Given the description of an element on the screen output the (x, y) to click on. 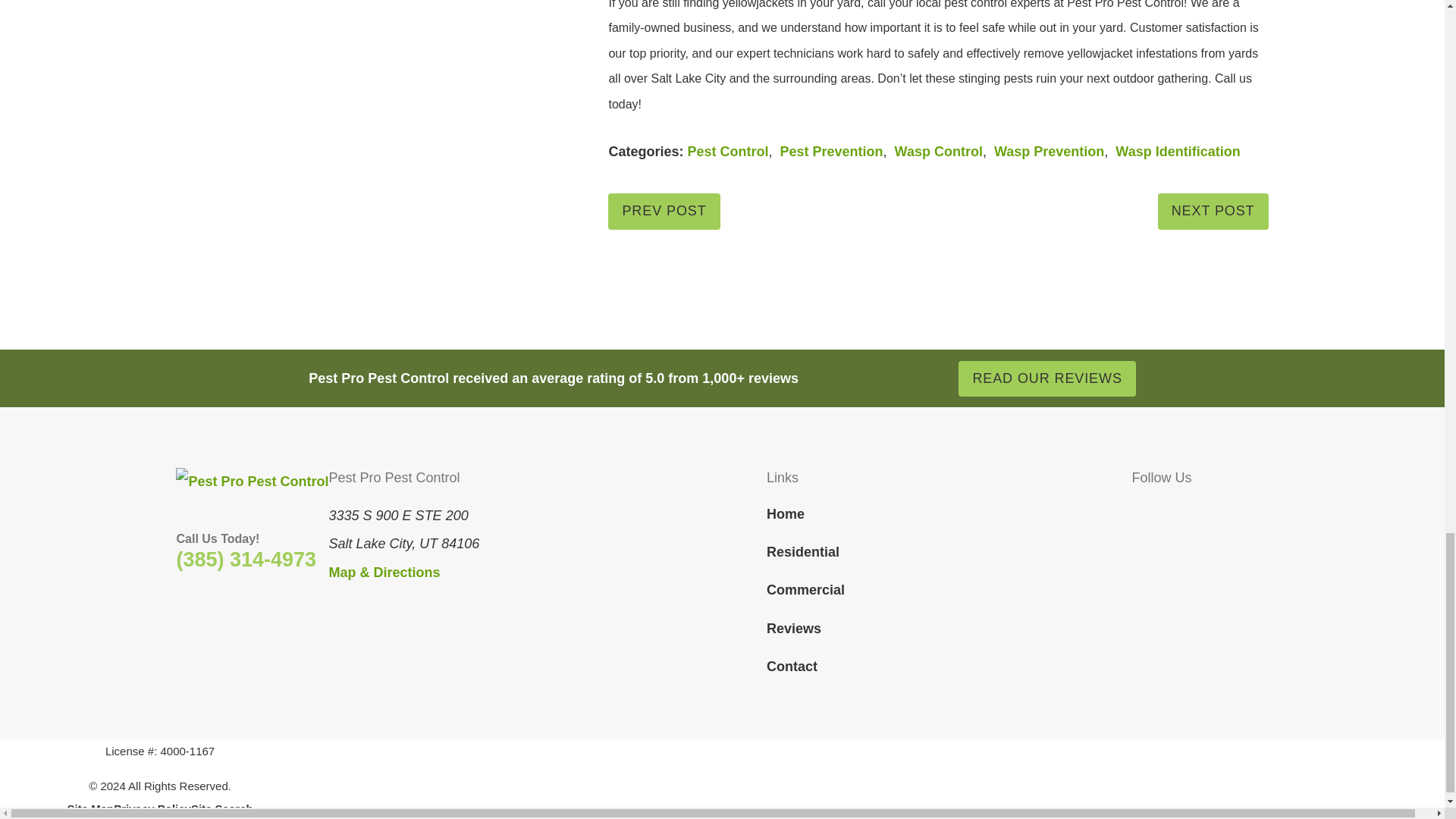
Facebook (1141, 511)
Home (252, 481)
Star Rating (865, 378)
